Given the description of an element on the screen output the (x, y) to click on. 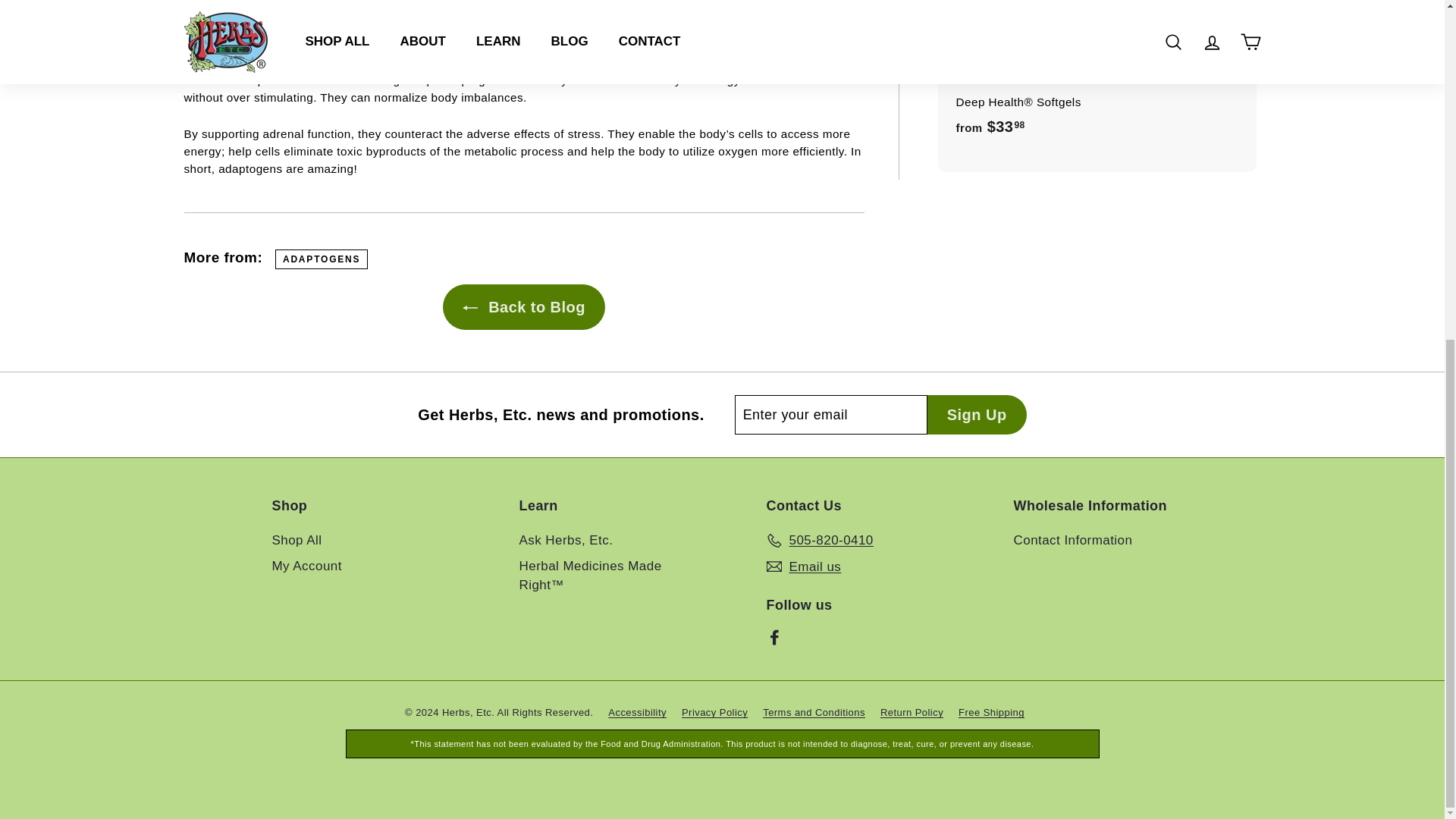
Back to Blog (523, 307)
ADAPTOGENS (321, 259)
Sign Up (976, 414)
